Given the description of an element on the screen output the (x, y) to click on. 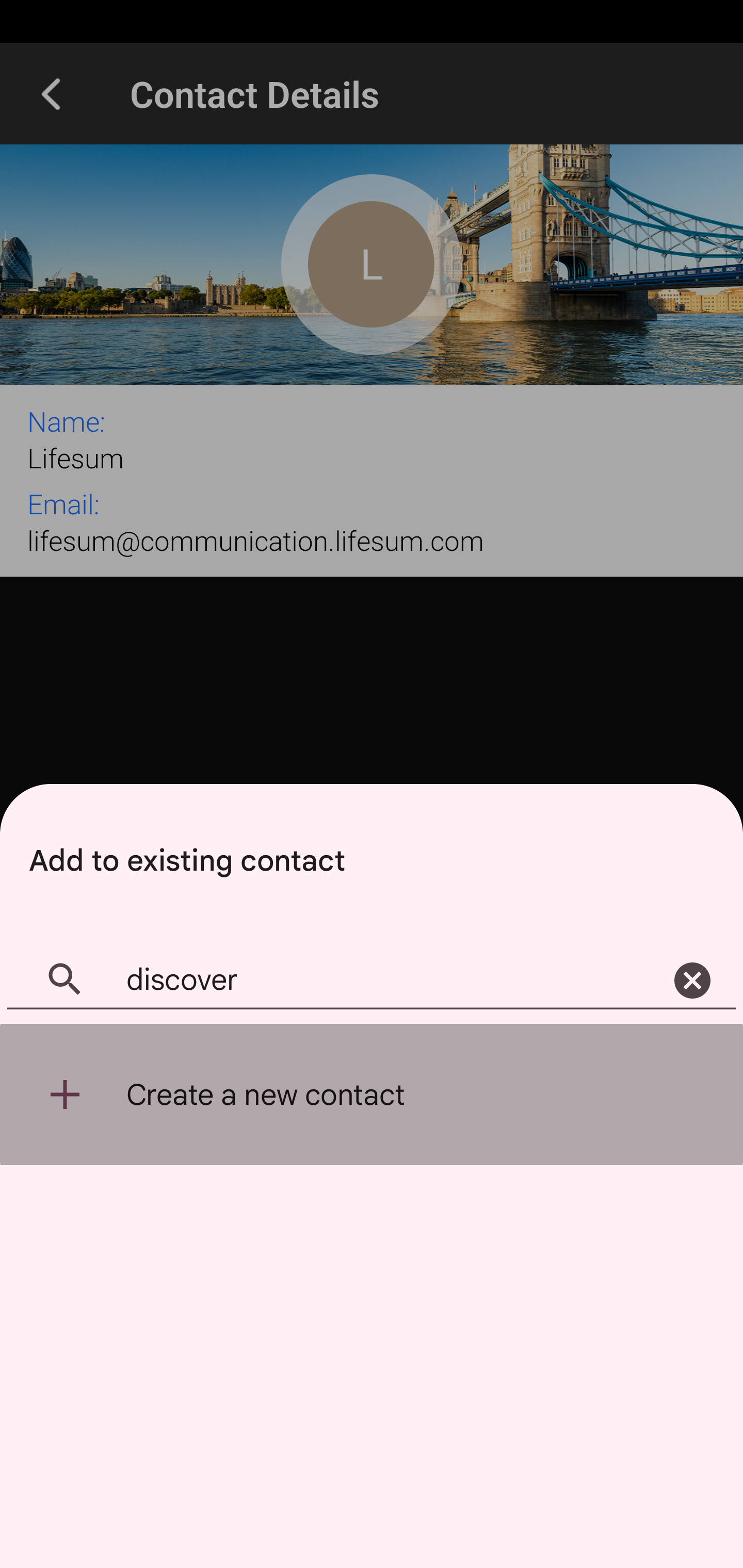
discover (371, 980)
Clear search (692, 980)
Create a new contact (371, 1094)
